Given the description of an element on the screen output the (x, y) to click on. 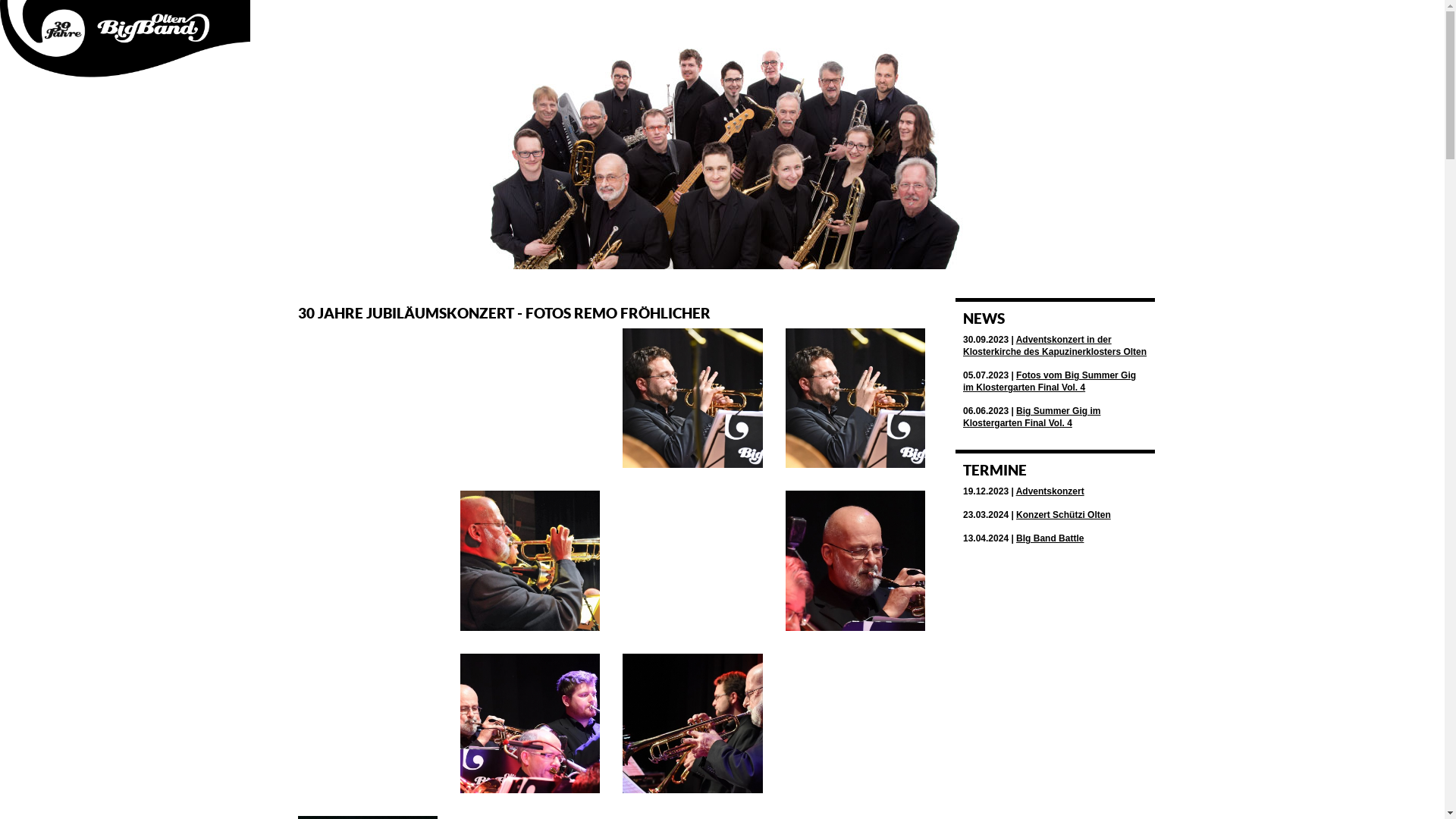
Big Summer Gig im Klostergarten Final Vol. 4 Element type: text (1031, 416)
Fotos vom Big Summer Gig im Klostergarten Final Vol. 4 Element type: text (1049, 381)
Adventskonzert Element type: text (1050, 491)
KONTAKT Element type: text (1131, 20)
NEWS Element type: text (933, 20)
TERMINE Element type: text (994, 469)
NEWS Element type: text (983, 318)
DIE BAND Element type: text (993, 20)
BOOKING Element type: text (1062, 20)
BIg Band Battle Element type: text (1049, 538)
